Given the description of an element on the screen output the (x, y) to click on. 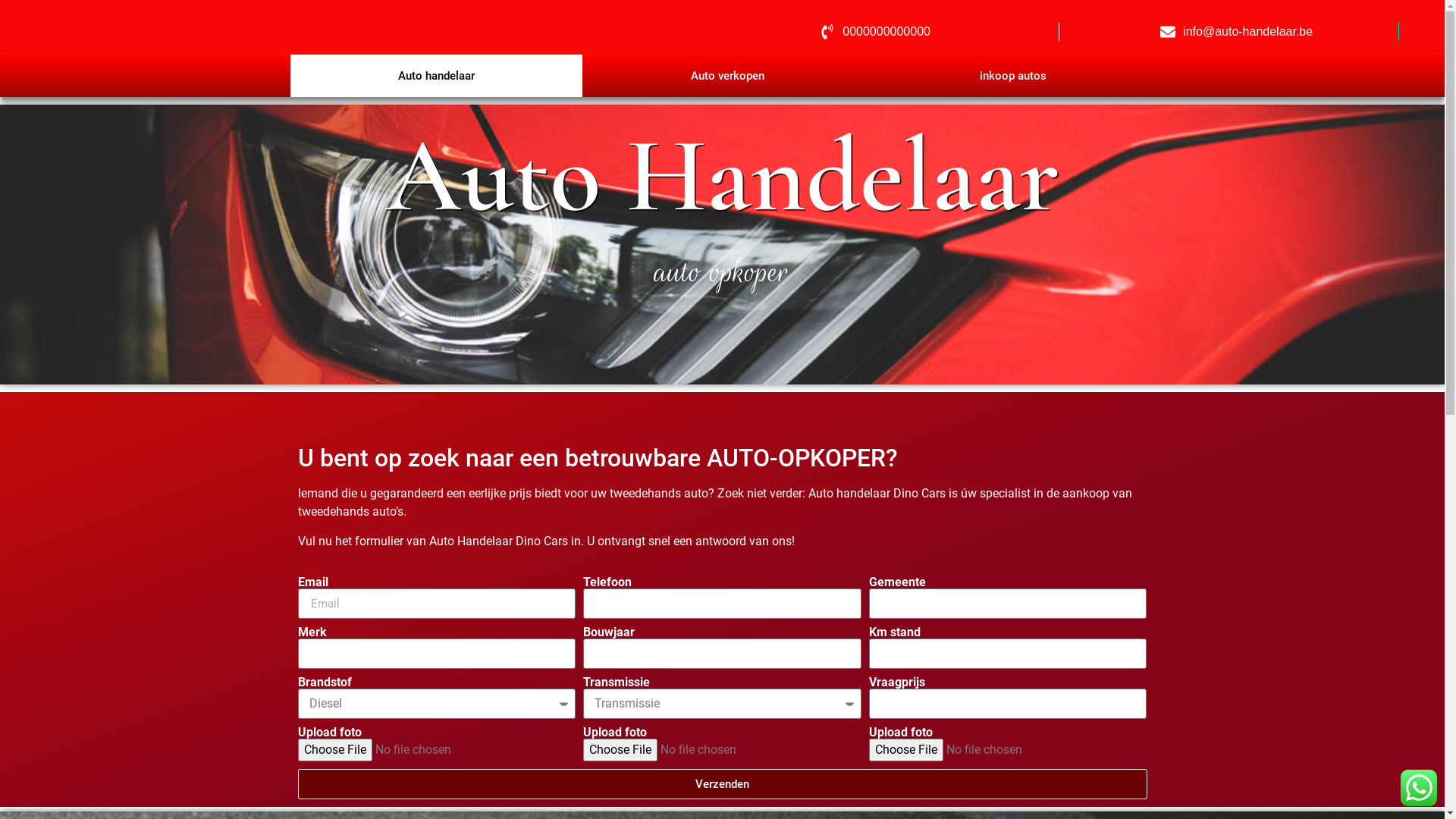
Auto verkopen Element type: text (727, 75)
Auto handelaar Element type: text (435, 75)
inkoop autos Element type: text (1013, 75)
Verzenden Element type: text (721, 783)
info@auto-handelaar.be Element type: text (1236, 31)
